Given the description of an element on the screen output the (x, y) to click on. 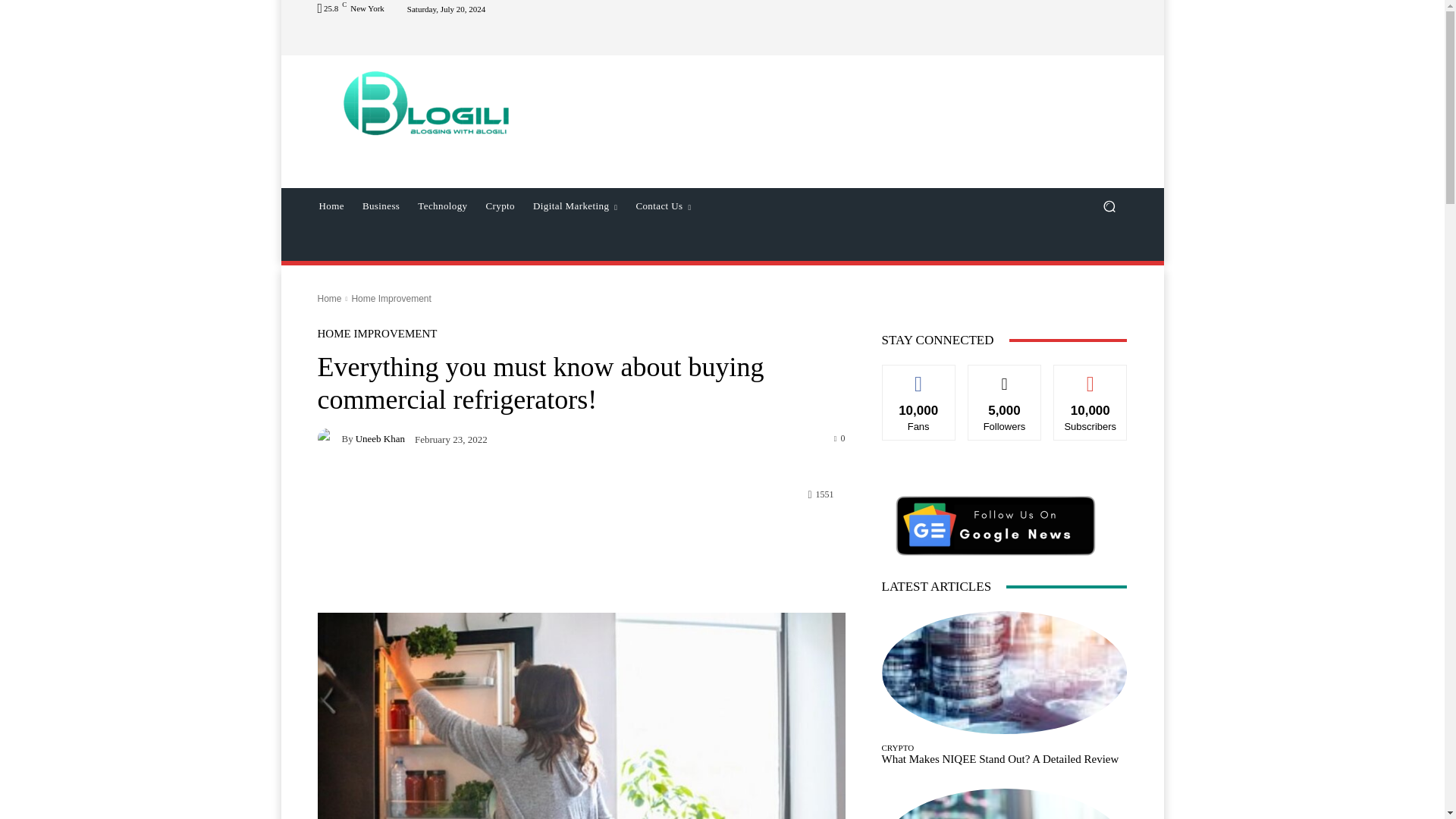
Home (328, 298)
Home (330, 206)
Technology (442, 206)
Business (381, 206)
Crypto (500, 206)
Uneeb Khan (328, 437)
Digital Marketing (575, 206)
Home Improvement (390, 298)
Contact Us (663, 206)
View all posts in Home Improvement (390, 298)
HOME IMPROVEMENT (376, 333)
